Given the description of an element on the screen output the (x, y) to click on. 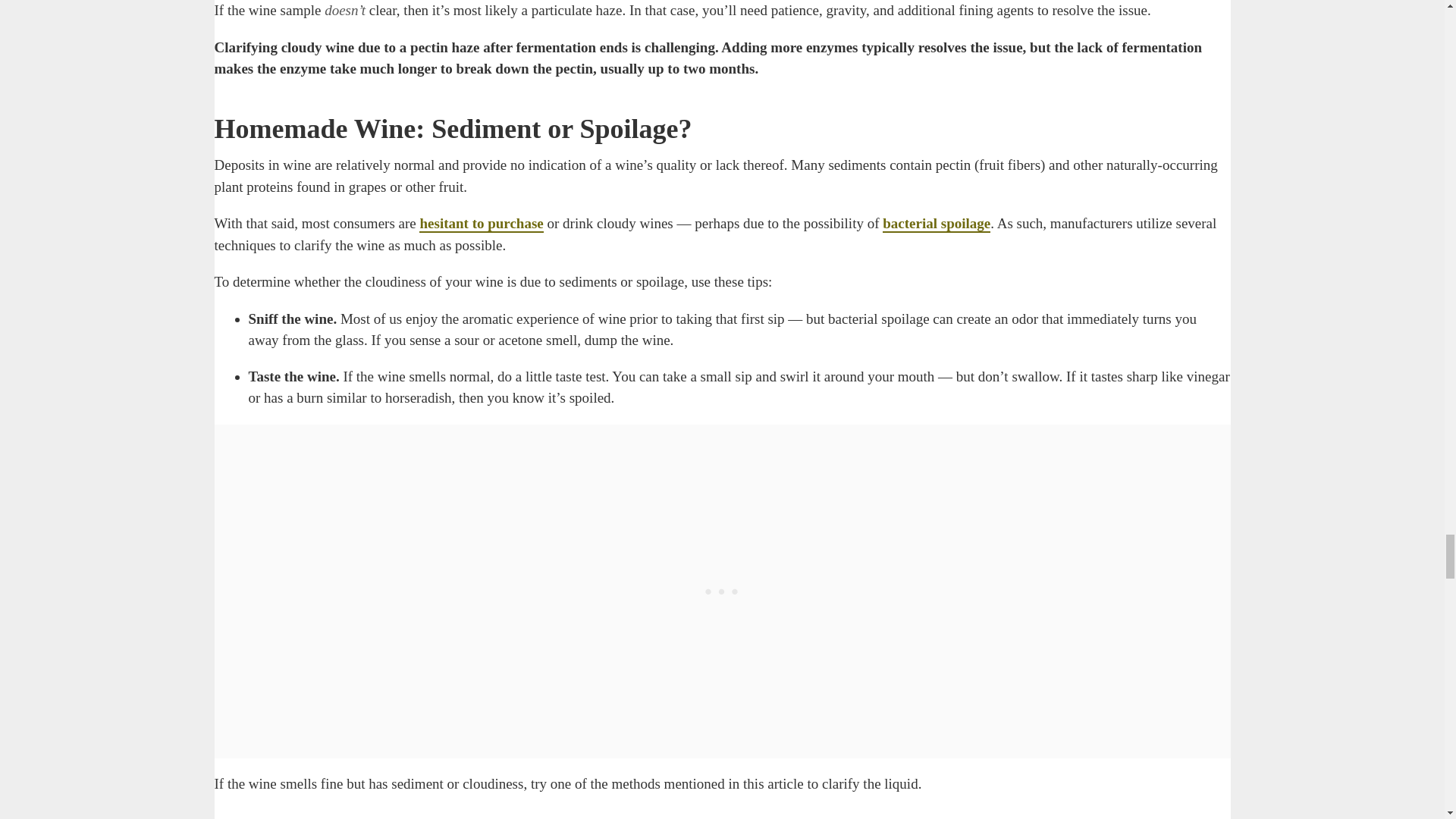
bacterial spoilage (936, 223)
hesitant to purchase (481, 223)
